Given the description of an element on the screen output the (x, y) to click on. 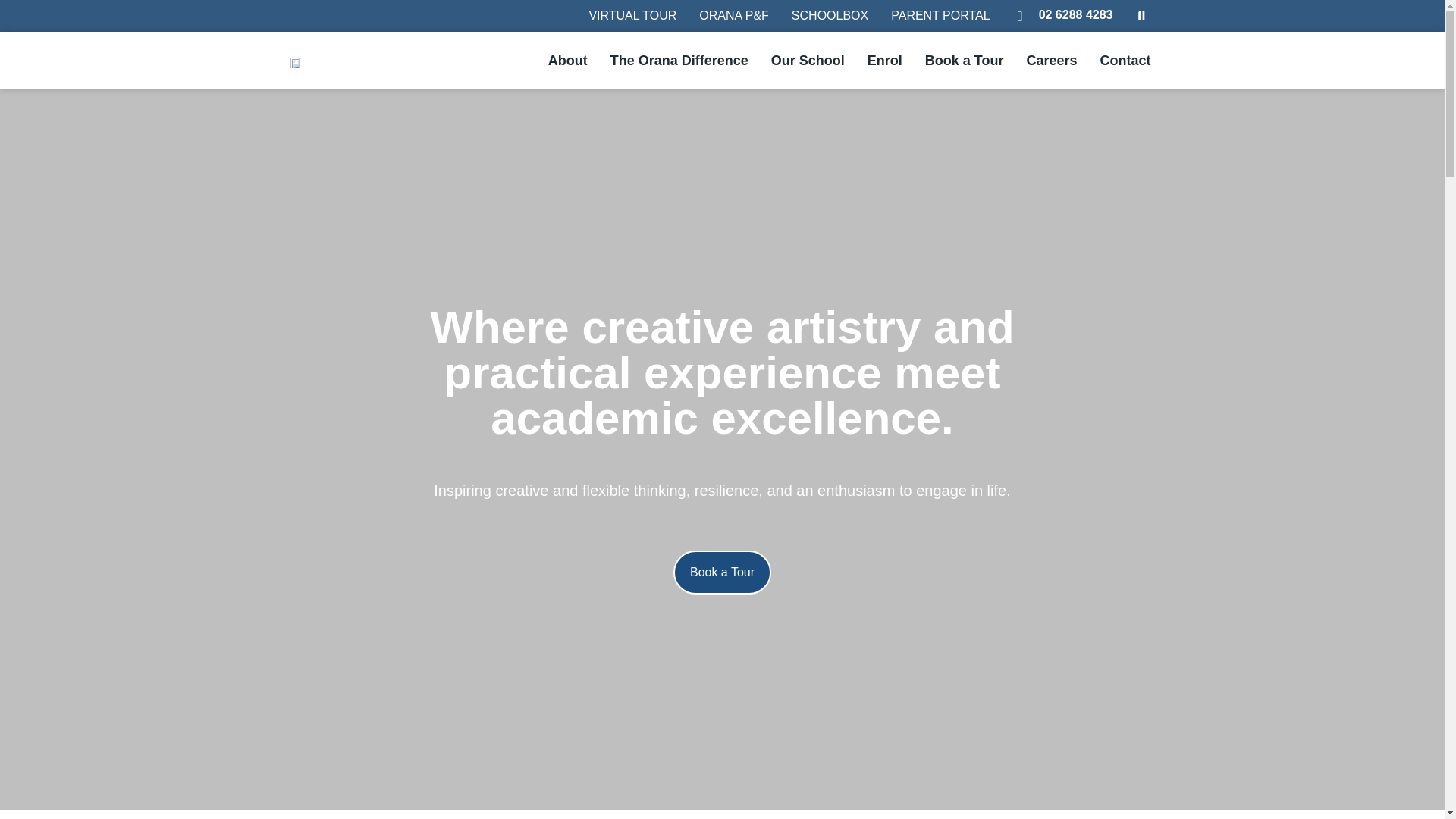
VIRTUAL TOUR (632, 15)
SCHOOLBOX (829, 15)
PARENT PORTAL (940, 15)
About (567, 60)
The Orana Difference (679, 60)
Enrol (884, 60)
Careers (1051, 60)
Our School (807, 60)
Book a Tour (964, 60)
02 6288 4283 (1076, 14)
